Given the description of an element on the screen output the (x, y) to click on. 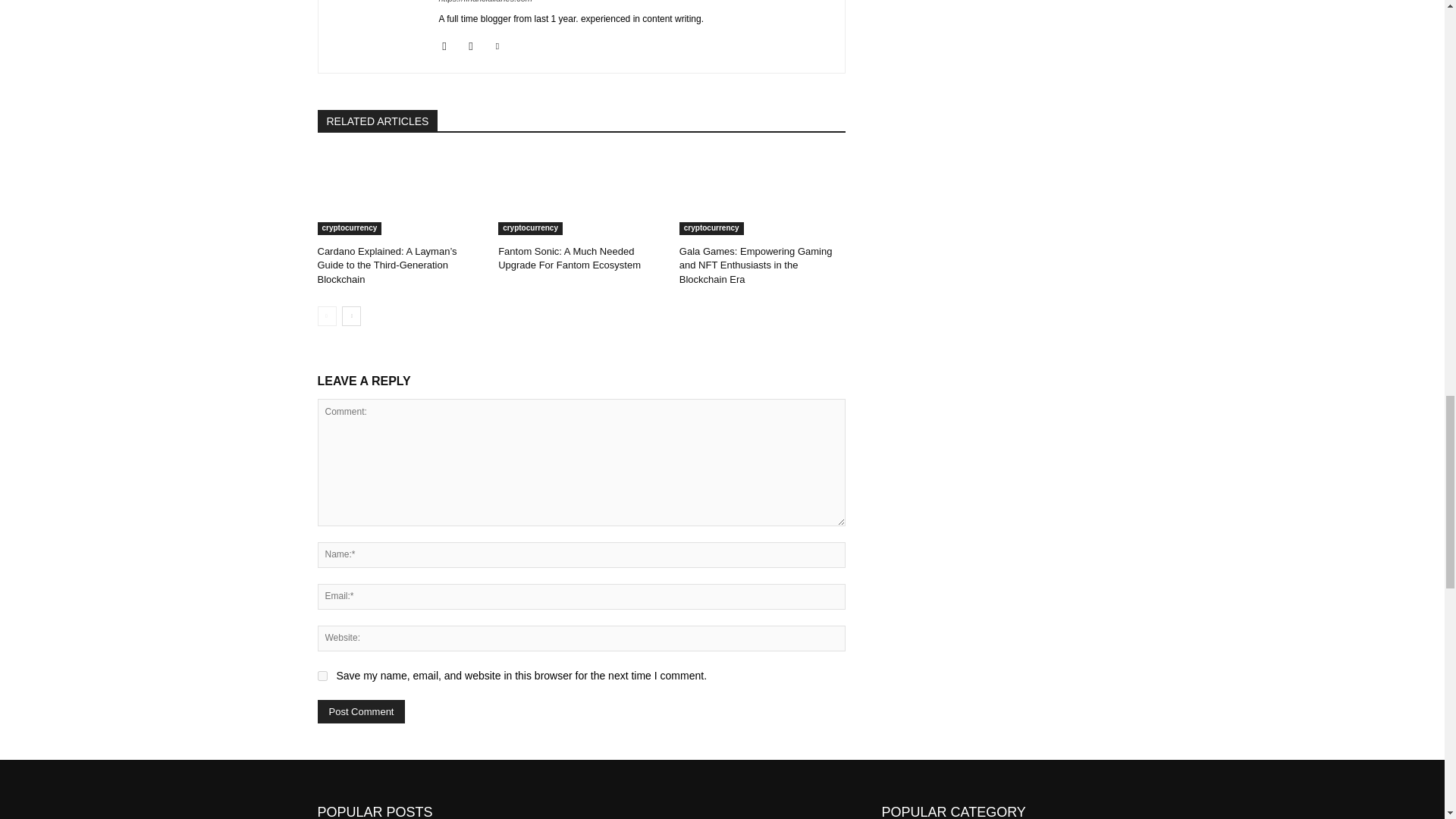
yes (321, 675)
Post Comment (360, 711)
